Given the description of an element on the screen output the (x, y) to click on. 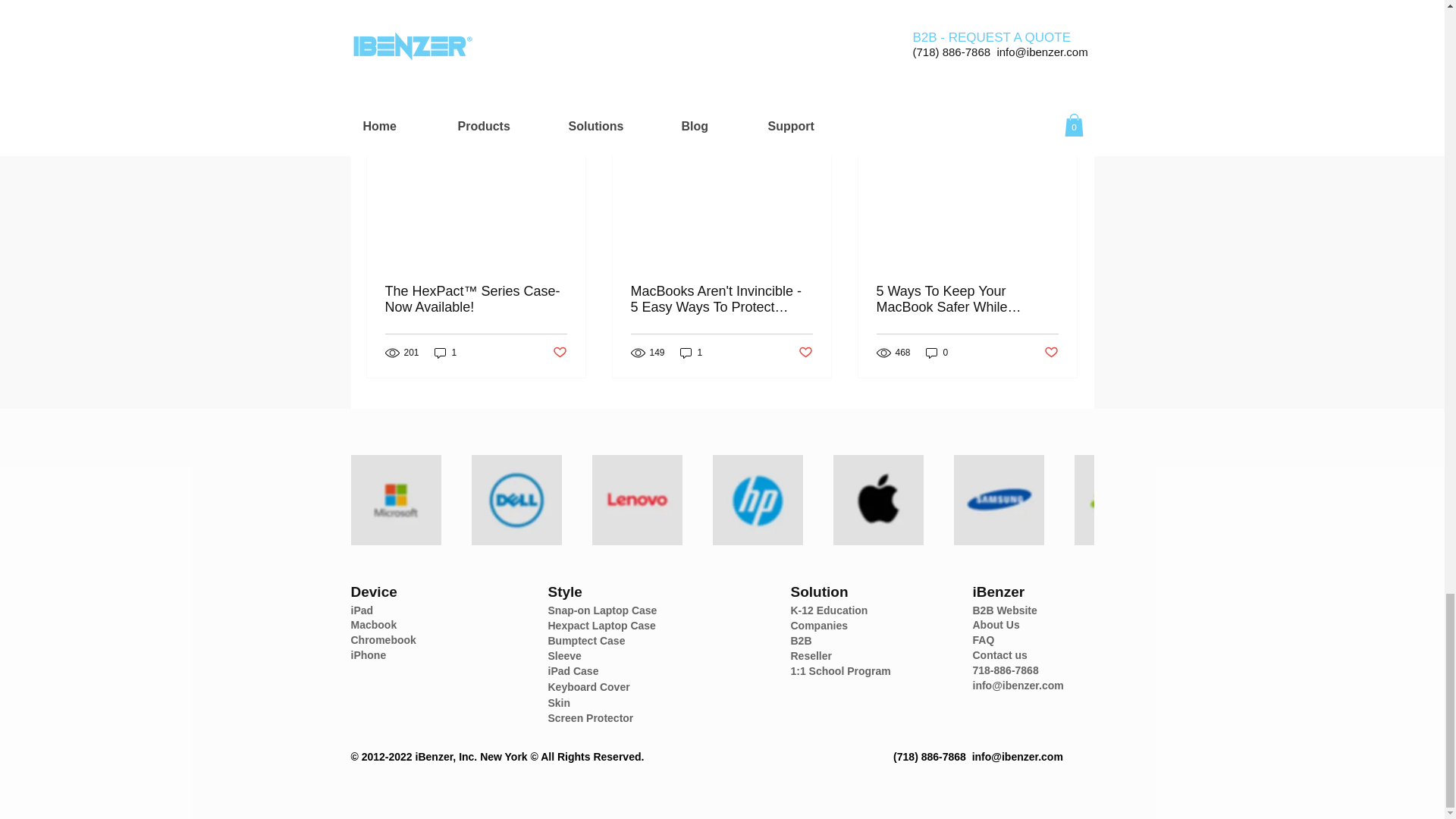
Post not marked as liked (995, 32)
